Given the description of an element on the screen output the (x, y) to click on. 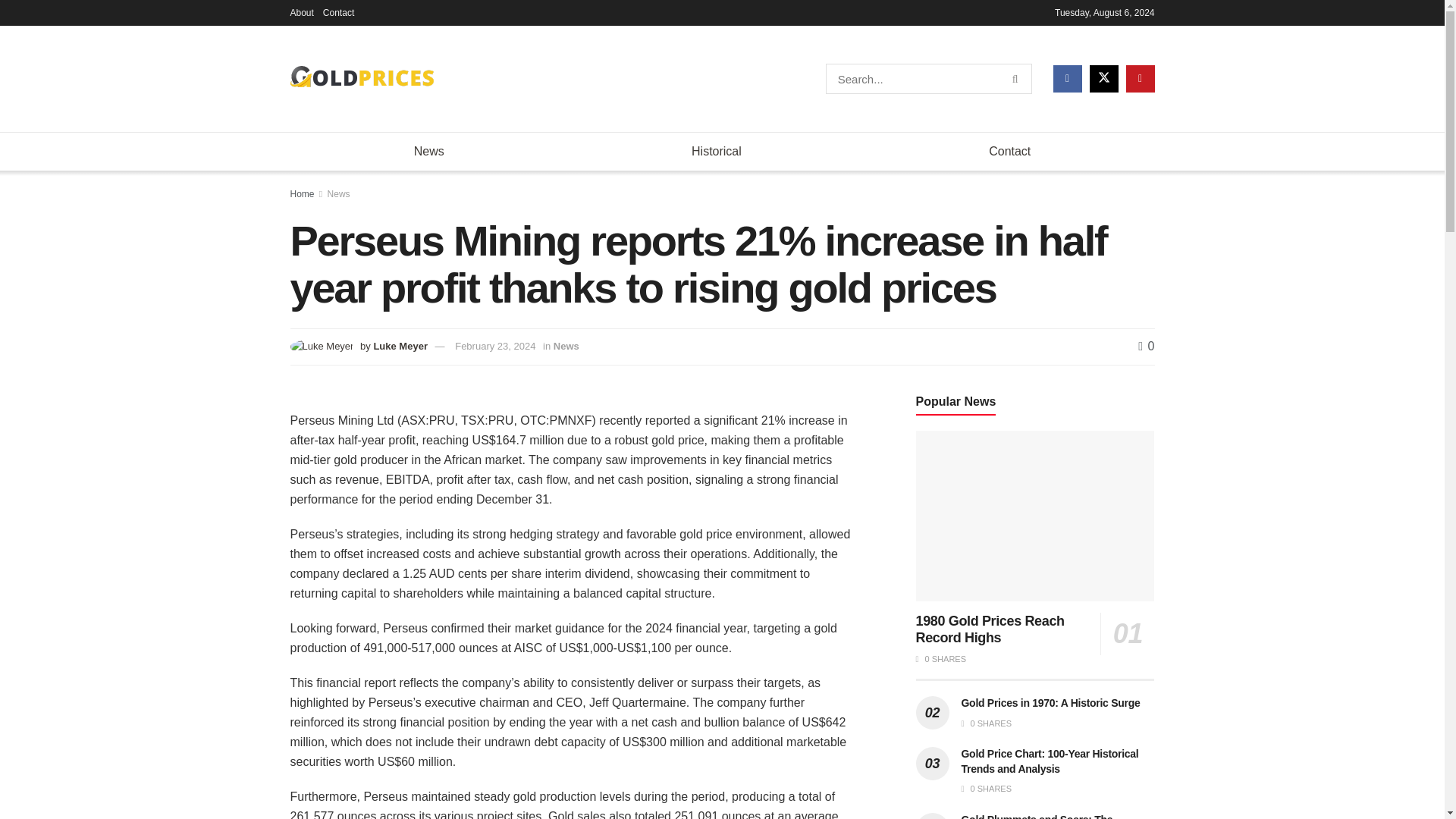
0 (1146, 345)
Historical (715, 151)
Home (301, 194)
Contact (338, 12)
News (428, 151)
Luke Meyer (400, 346)
About (301, 12)
Contact (1009, 151)
February 23, 2024 (494, 346)
News (338, 194)
News (566, 346)
